Given the description of an element on the screen output the (x, y) to click on. 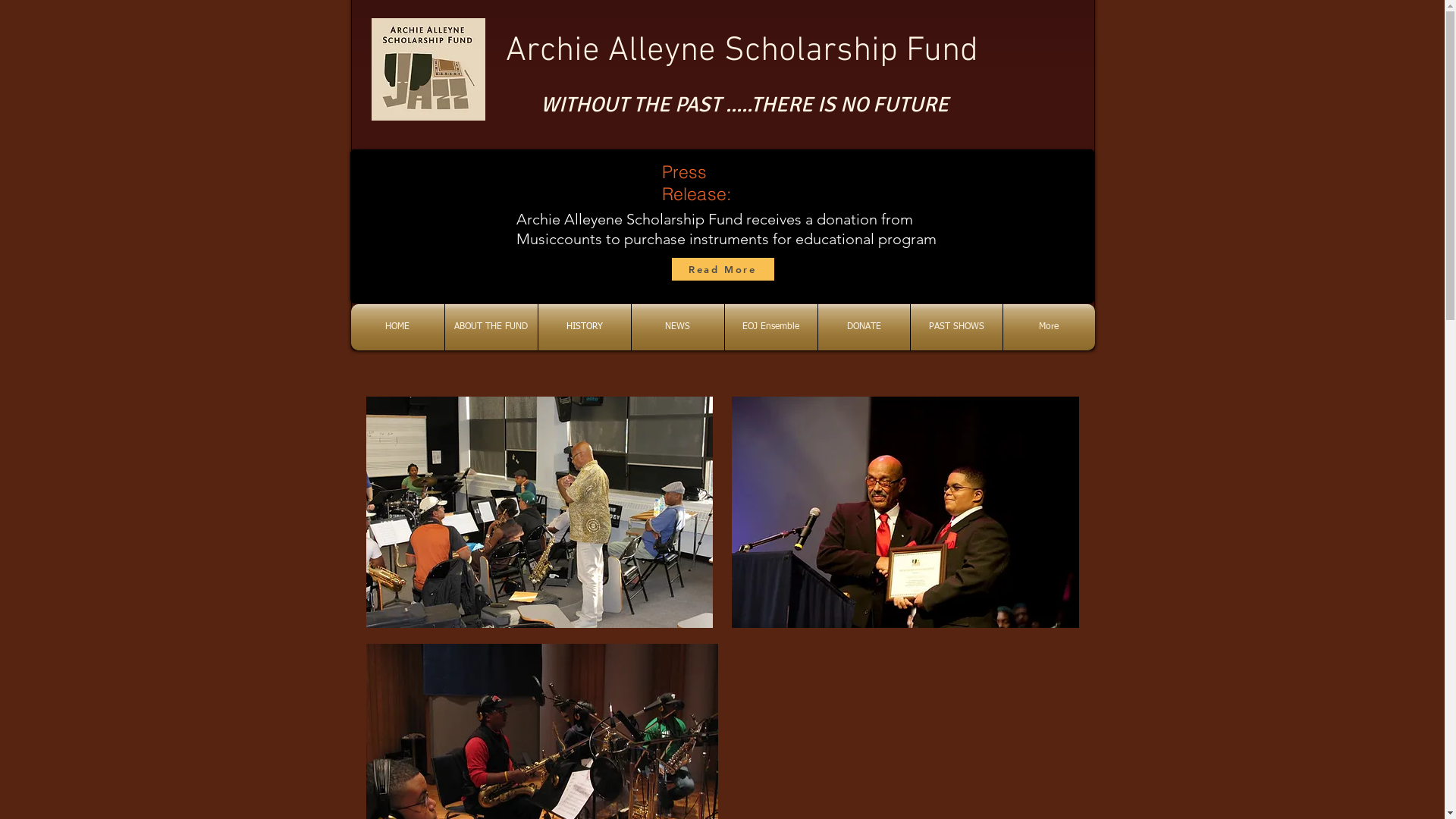
HISTORY Element type: text (584, 327)
ABOUT THE FUND Element type: text (490, 327)
Read More Element type: text (722, 268)
NEWS Element type: text (676, 327)
EOJ Ensemble Element type: text (770, 327)
DONATE Element type: text (863, 327)
PAST SHOWS Element type: text (955, 327)
HOME Element type: text (396, 327)
